Given the description of an element on the screen output the (x, y) to click on. 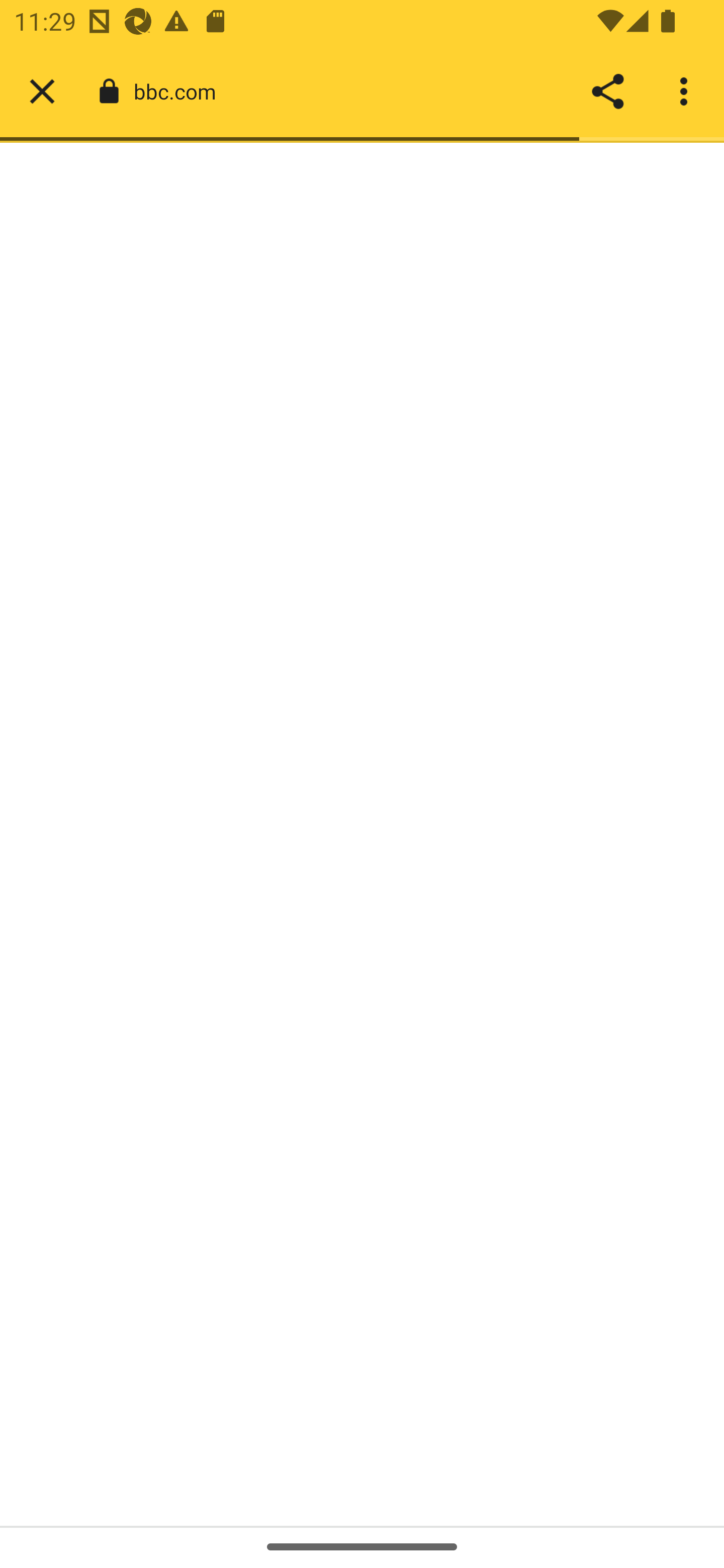
Close tab (42, 91)
Share (607, 91)
More options (687, 91)
Connection is secure (108, 91)
bbc.com (181, 90)
